Given the description of an element on the screen output the (x, y) to click on. 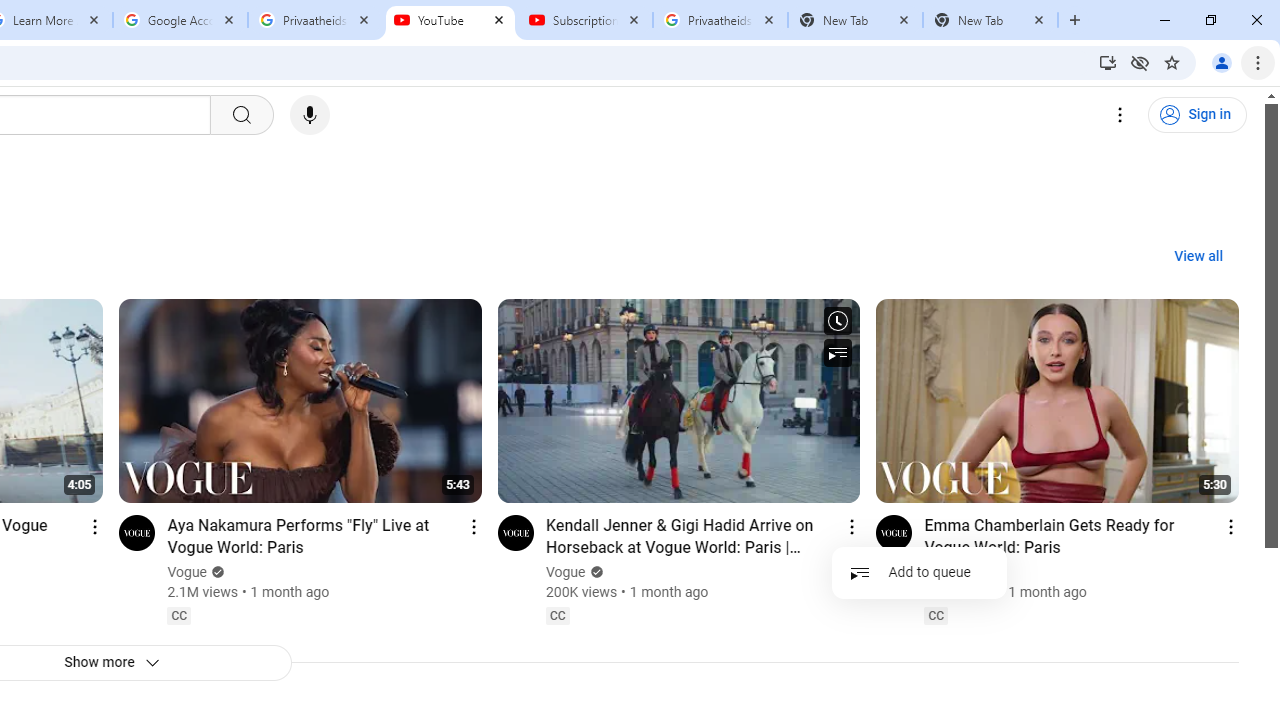
Verified (972, 572)
YouTube (450, 20)
Search with your voice (309, 115)
View all (1198, 257)
Install YouTube (1107, 62)
Settings (1119, 115)
Add to queue (919, 572)
